Given the description of an element on the screen output the (x, y) to click on. 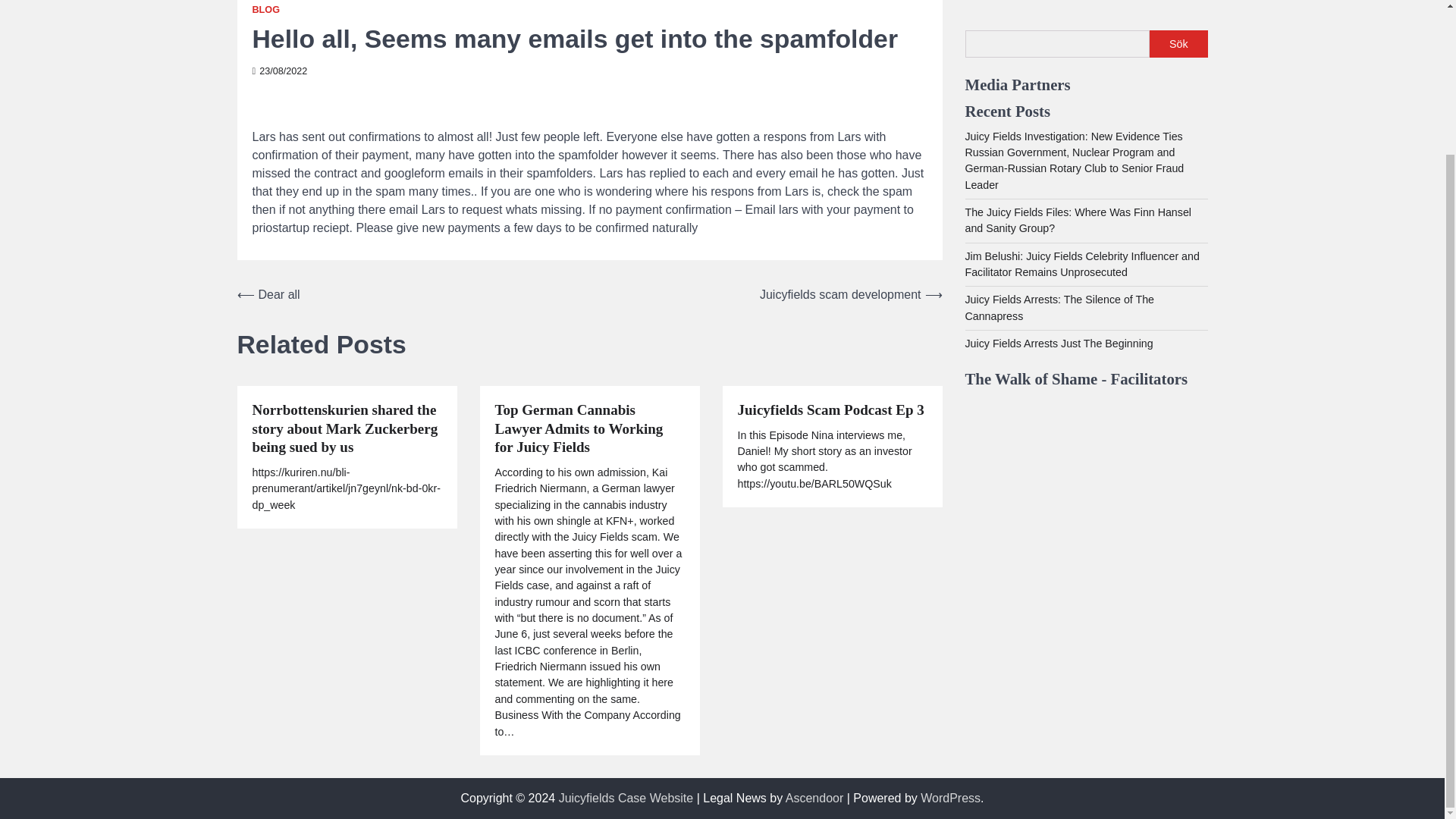
BLOG (265, 9)
WordPress (949, 797)
Juicyfields Scam Podcast Ep 3 (829, 410)
Ascendoor (815, 797)
Juicy Fields Arrests Just The Beginning (1058, 302)
Juicyfields Case Website (626, 797)
Juicy Fields Arrests: The Silence of The Cannapress (1058, 266)
